Given the description of an element on the screen output the (x, y) to click on. 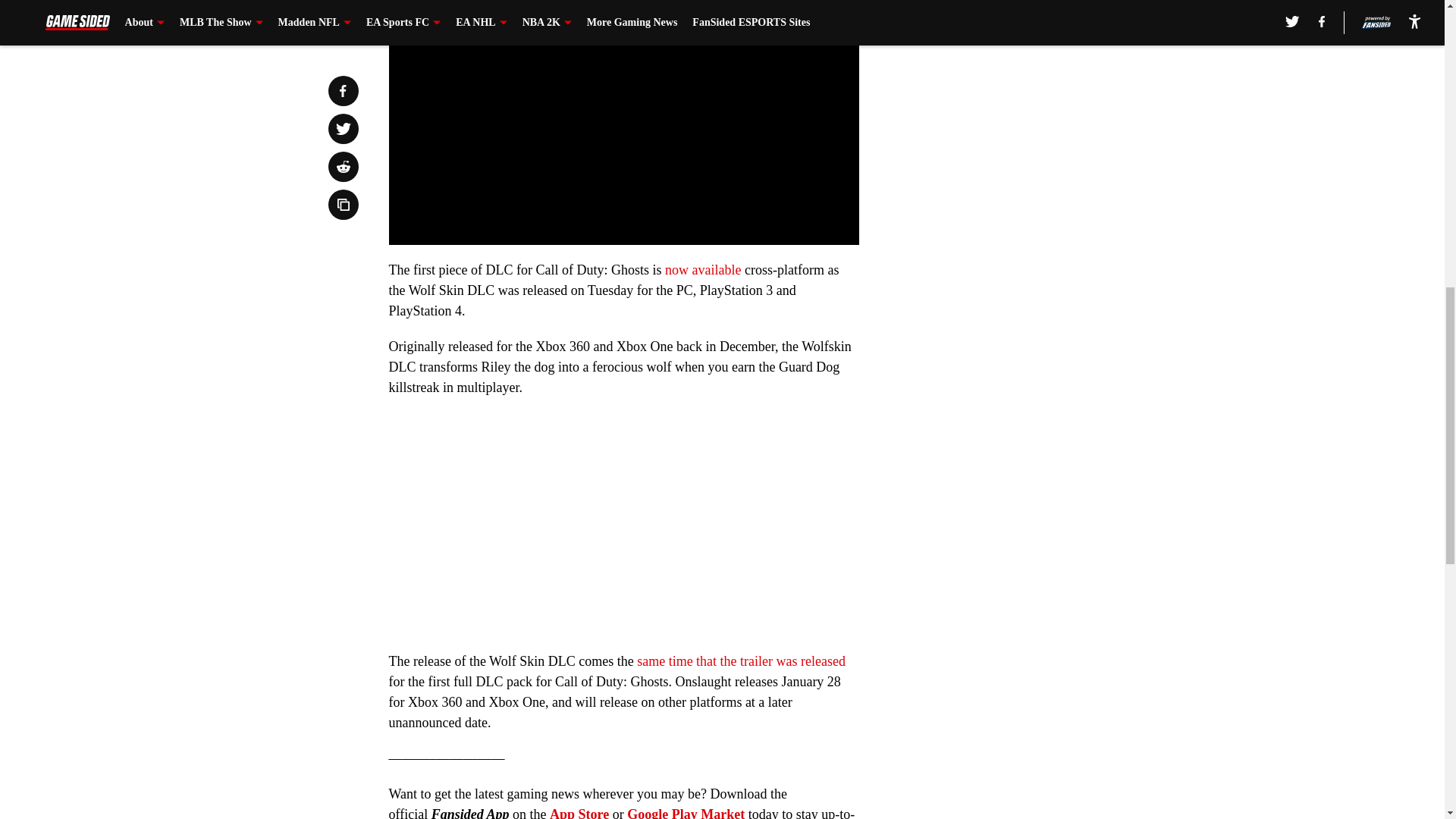
same time that the trailer was released (741, 661)
Google Play Market (685, 812)
App Store (579, 812)
now available (703, 269)
